Given the description of an element on the screen output the (x, y) to click on. 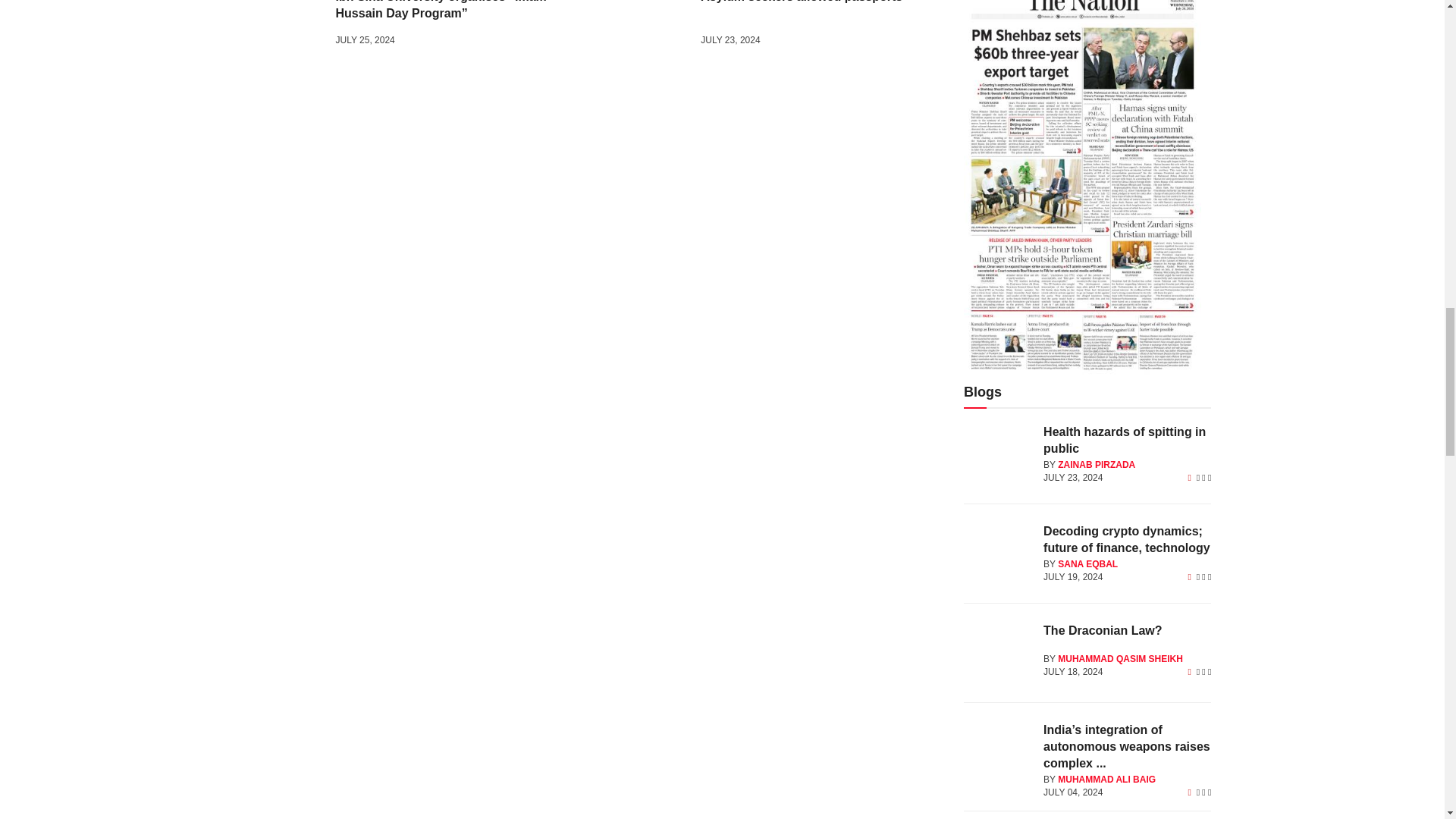
Asylum seekers allowed passports (643, 26)
